Given the description of an element on the screen output the (x, y) to click on. 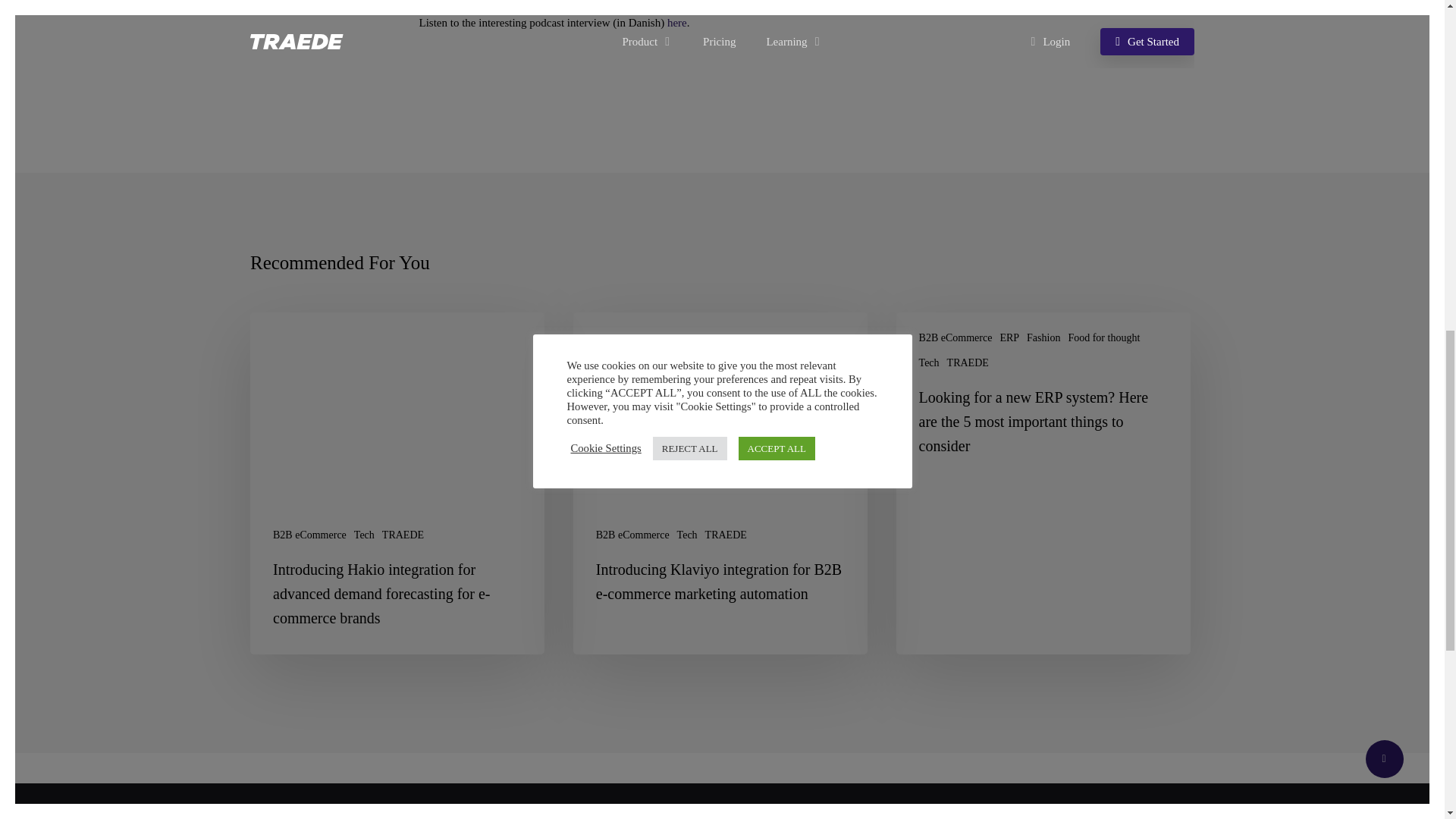
TRAEDE (402, 534)
TRAEDE (725, 534)
B2B eCommerce (632, 534)
Tech (363, 534)
Tech (687, 534)
B2B eCommerce (309, 534)
here (676, 22)
